Given the description of an element on the screen output the (x, y) to click on. 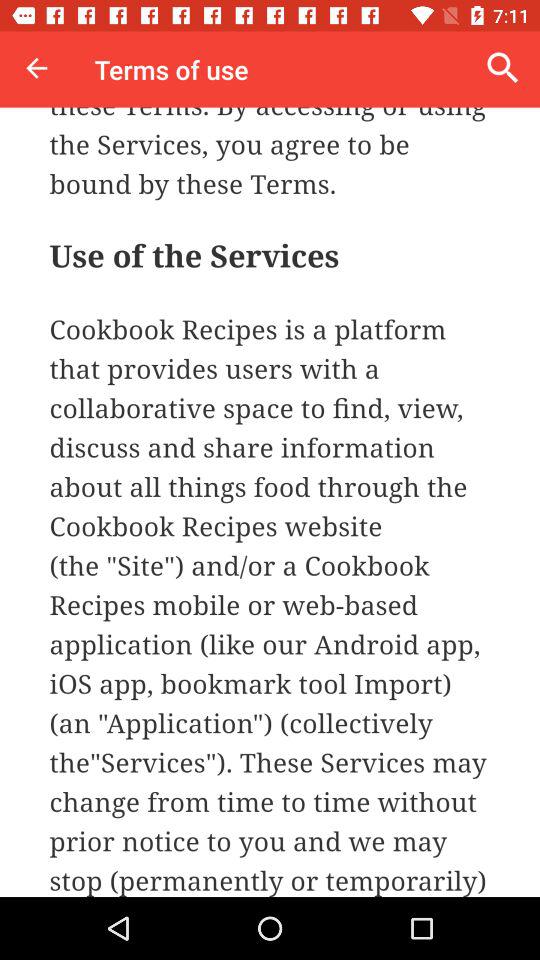
scroll up or down (270, 502)
